Given the description of an element on the screen output the (x, y) to click on. 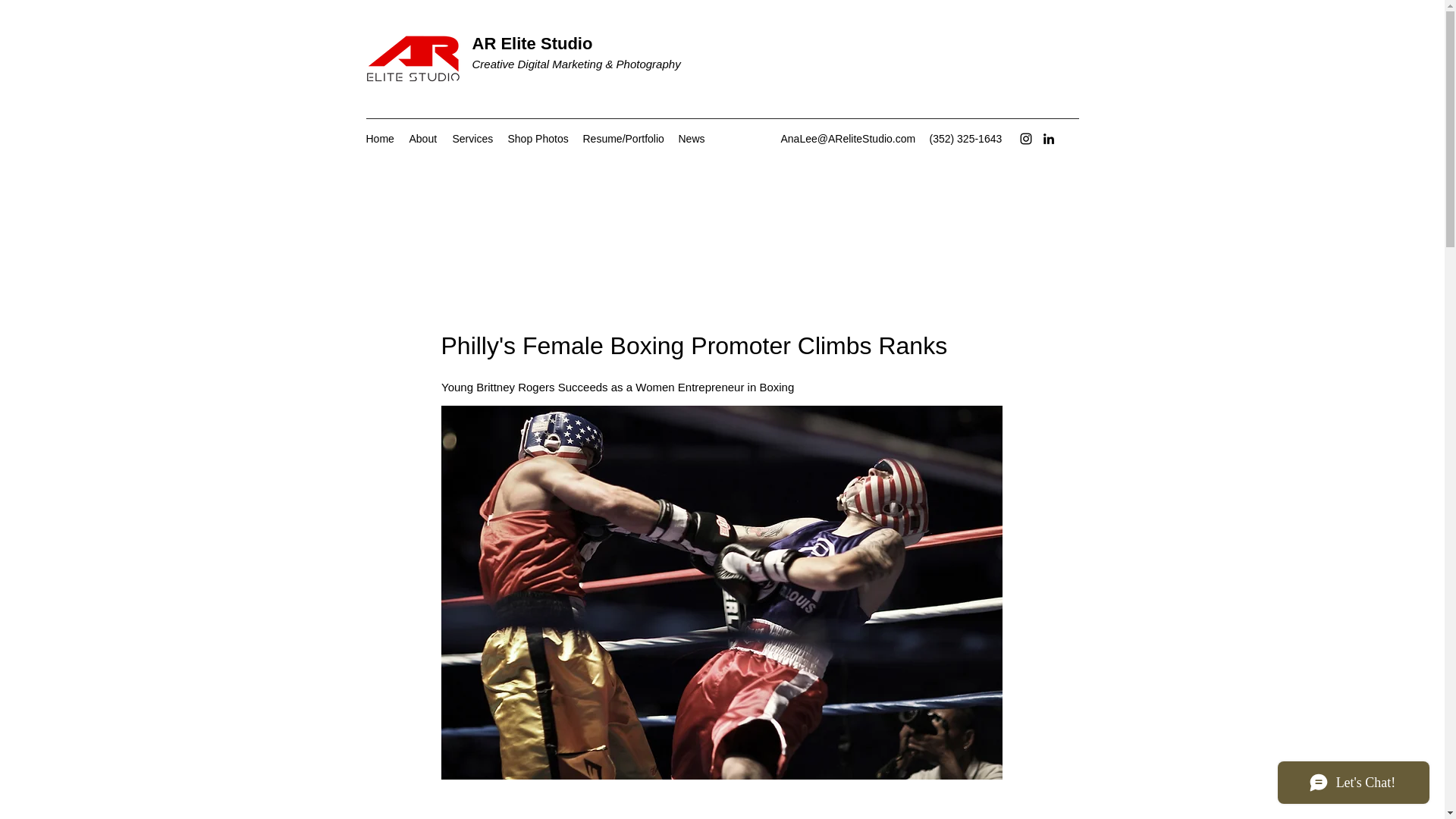
Shop Photos (537, 138)
Services (471, 138)
News (690, 138)
About (423, 138)
Home (379, 138)
